Given the description of an element on the screen output the (x, y) to click on. 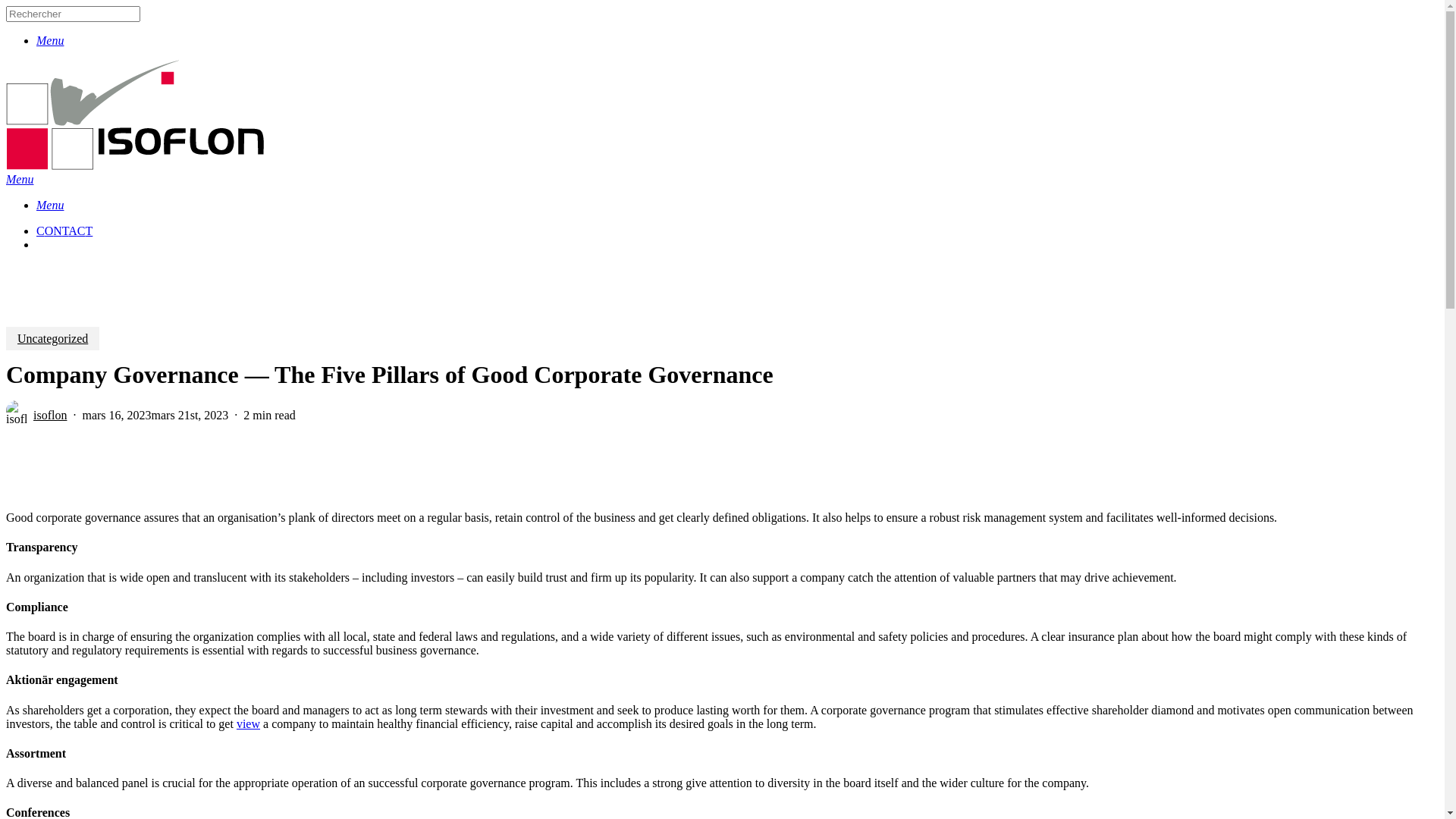
Menu Element type: text (19, 178)
Uncategorized Element type: text (52, 338)
Menu Element type: text (49, 204)
CONTACT Element type: text (64, 230)
view Element type: text (248, 723)
isoflon Element type: text (49, 414)
Skip to main content Element type: text (5, 5)
Menu Element type: text (49, 40)
